Given the description of an element on the screen output the (x, y) to click on. 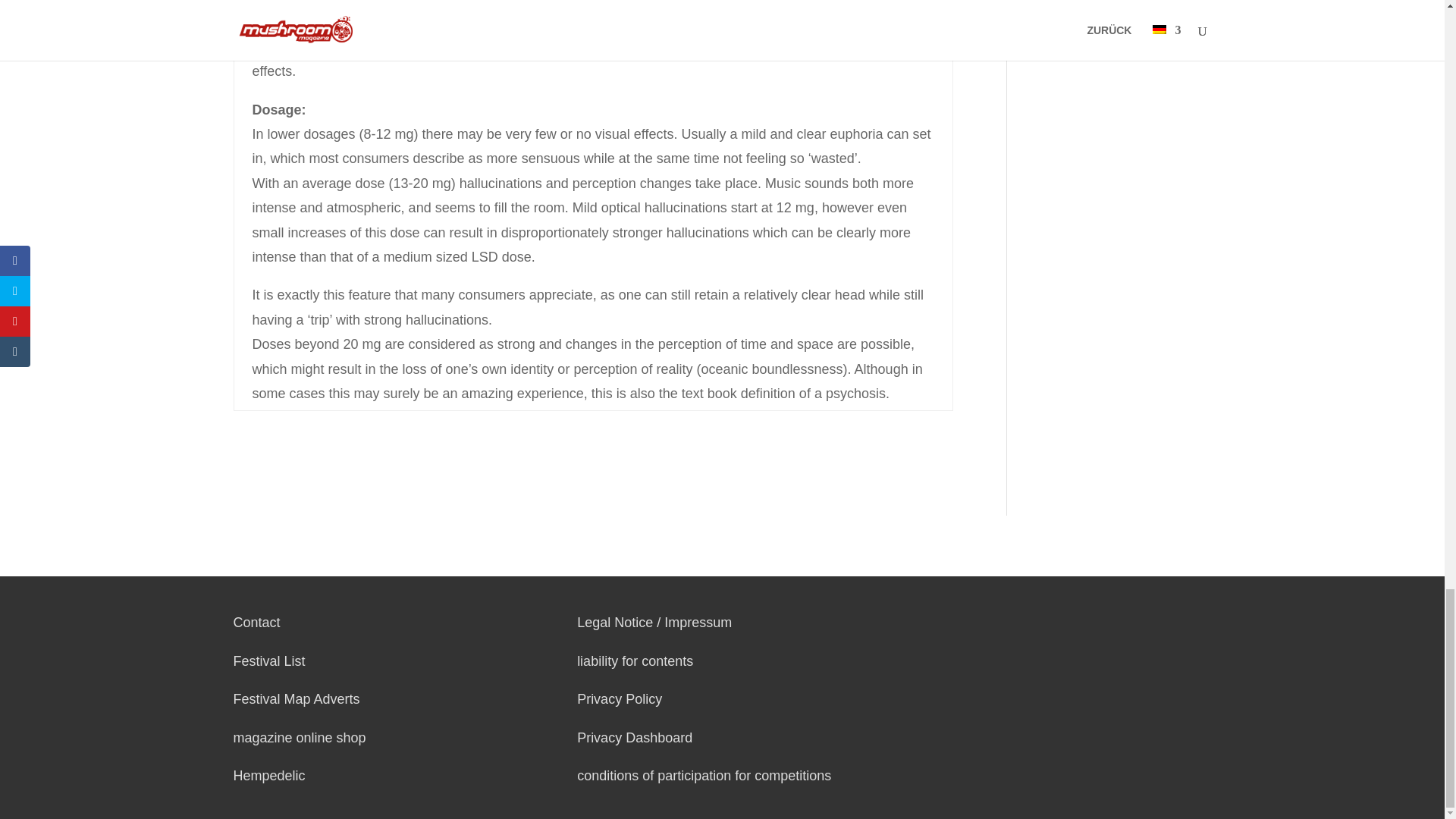
Privacy Dashboard (634, 737)
conditions of participation for competitions (703, 775)
Contact (256, 622)
Privacy Policy (619, 698)
Festival Map Adverts (295, 698)
magazine online shop (299, 737)
Hempedelic (268, 775)
Festival List (268, 661)
liability for contents (634, 661)
